Given the description of an element on the screen output the (x, y) to click on. 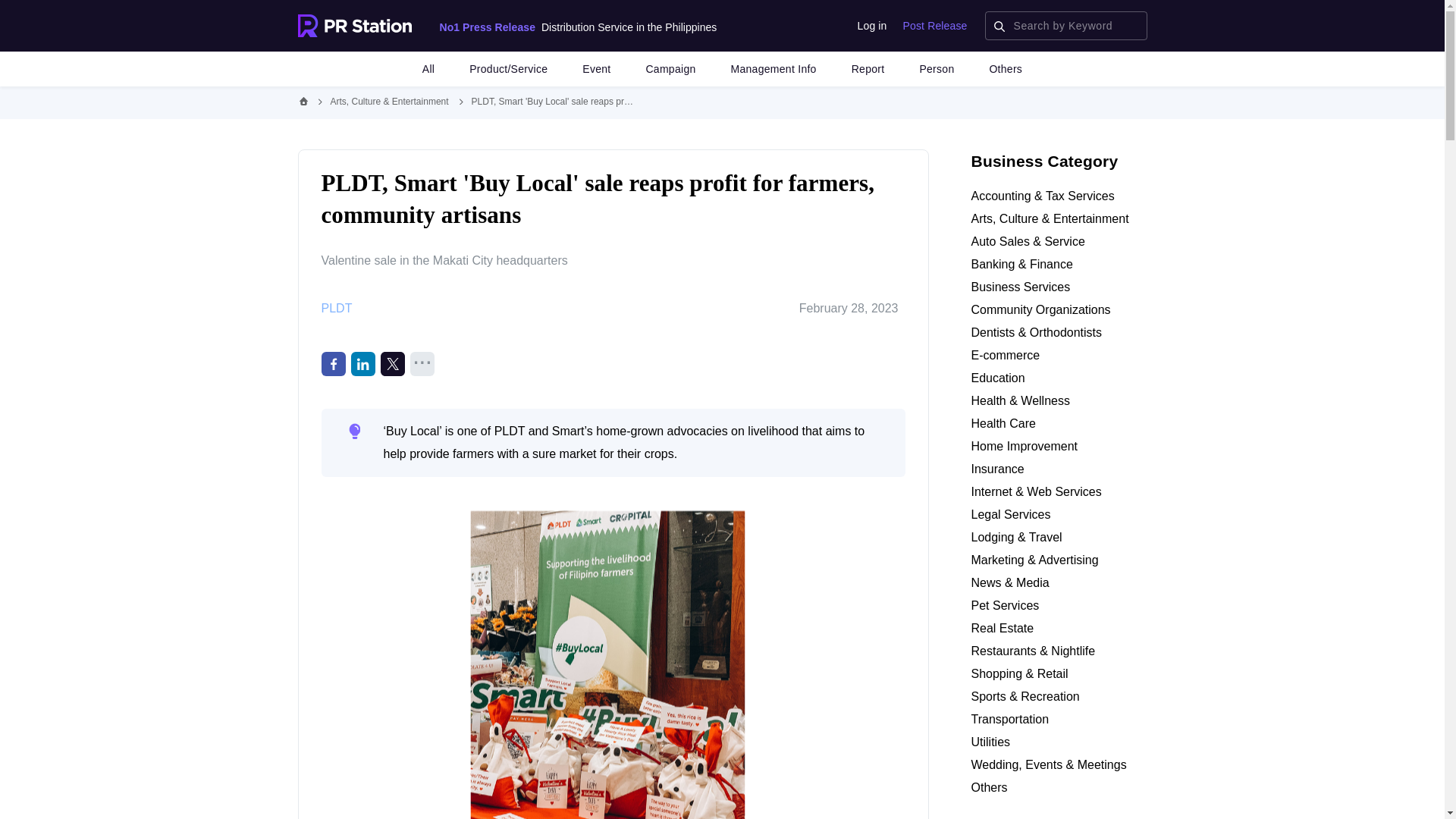
Others (1005, 69)
Person (935, 69)
Log in (871, 25)
Post Release (935, 25)
Campaign (670, 69)
All (427, 69)
Report (868, 69)
Event (596, 69)
Management Info (773, 69)
